Given the description of an element on the screen output the (x, y) to click on. 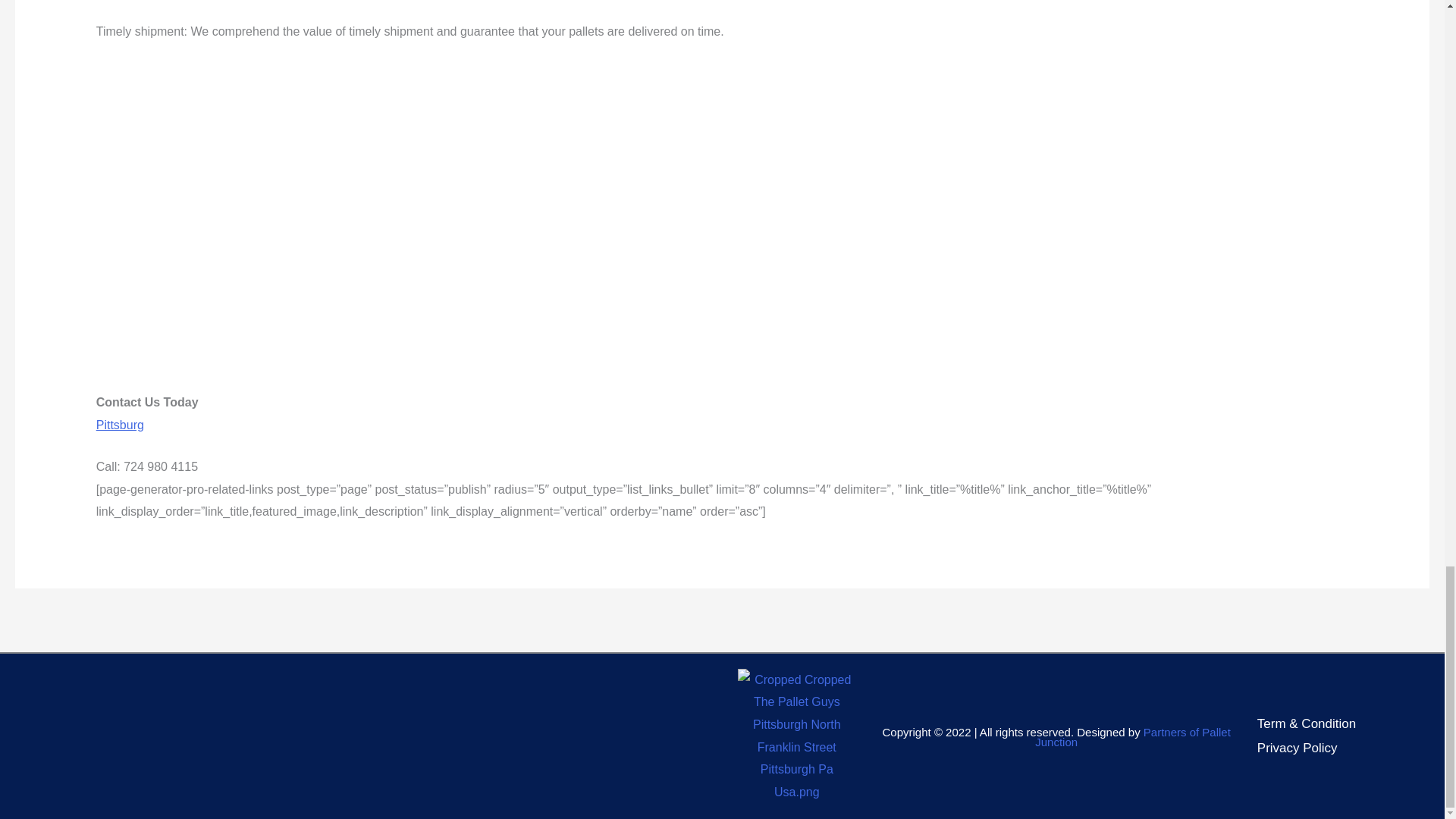
Pittsburg (120, 424)
Partners of Pallet Junction (1132, 736)
Privacy Policy (1297, 748)
